Given the description of an element on the screen output the (x, y) to click on. 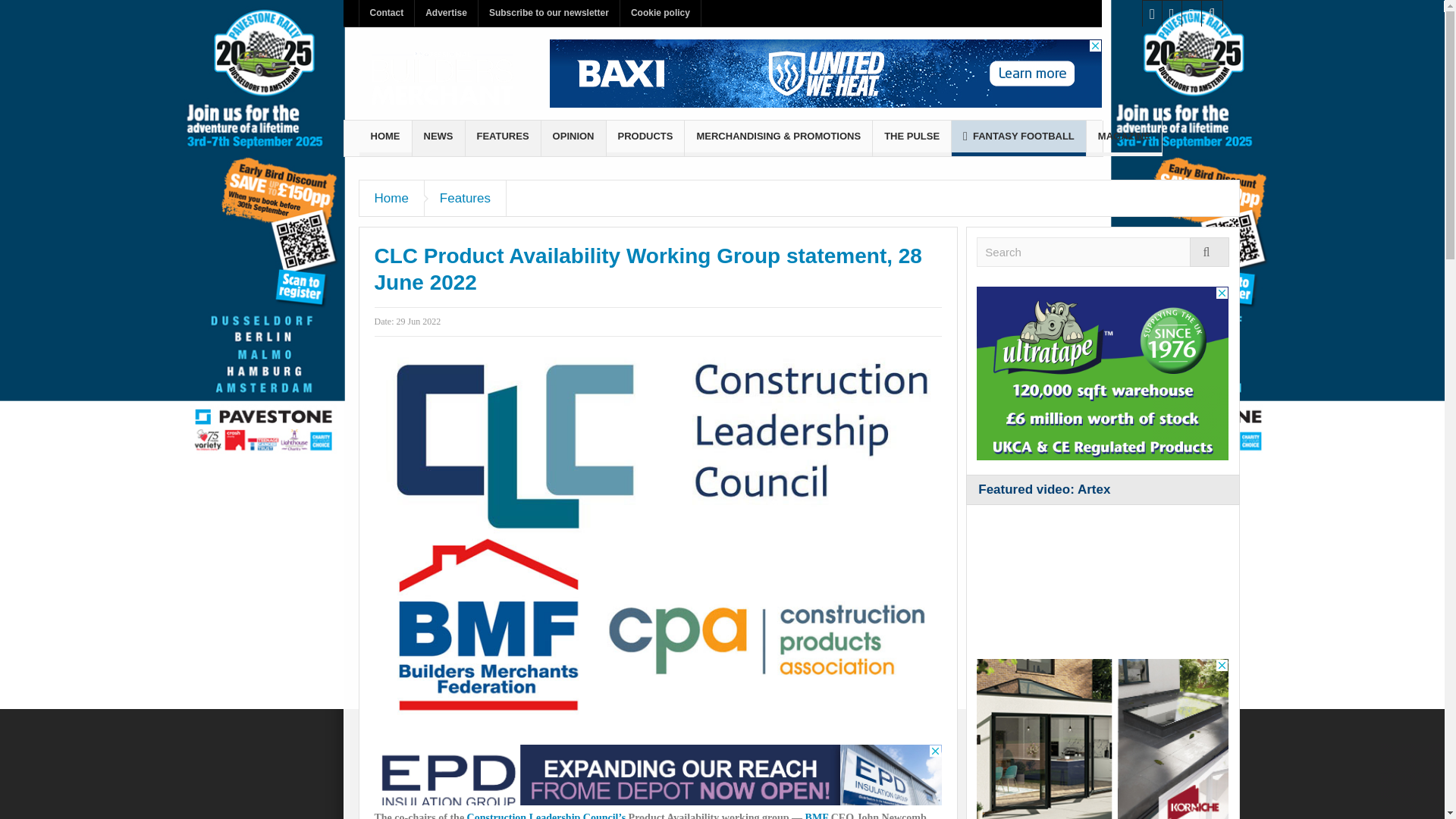
Features (465, 198)
FANTASY FOOTBALL (1019, 138)
OPINION (573, 138)
Search (1102, 251)
THE PULSE (911, 138)
3rd party ad content (1102, 739)
3rd party ad content (1102, 373)
BMF (816, 815)
Subscribe to our newsletter (549, 13)
HOME (385, 138)
